Given the description of an element on the screen output the (x, y) to click on. 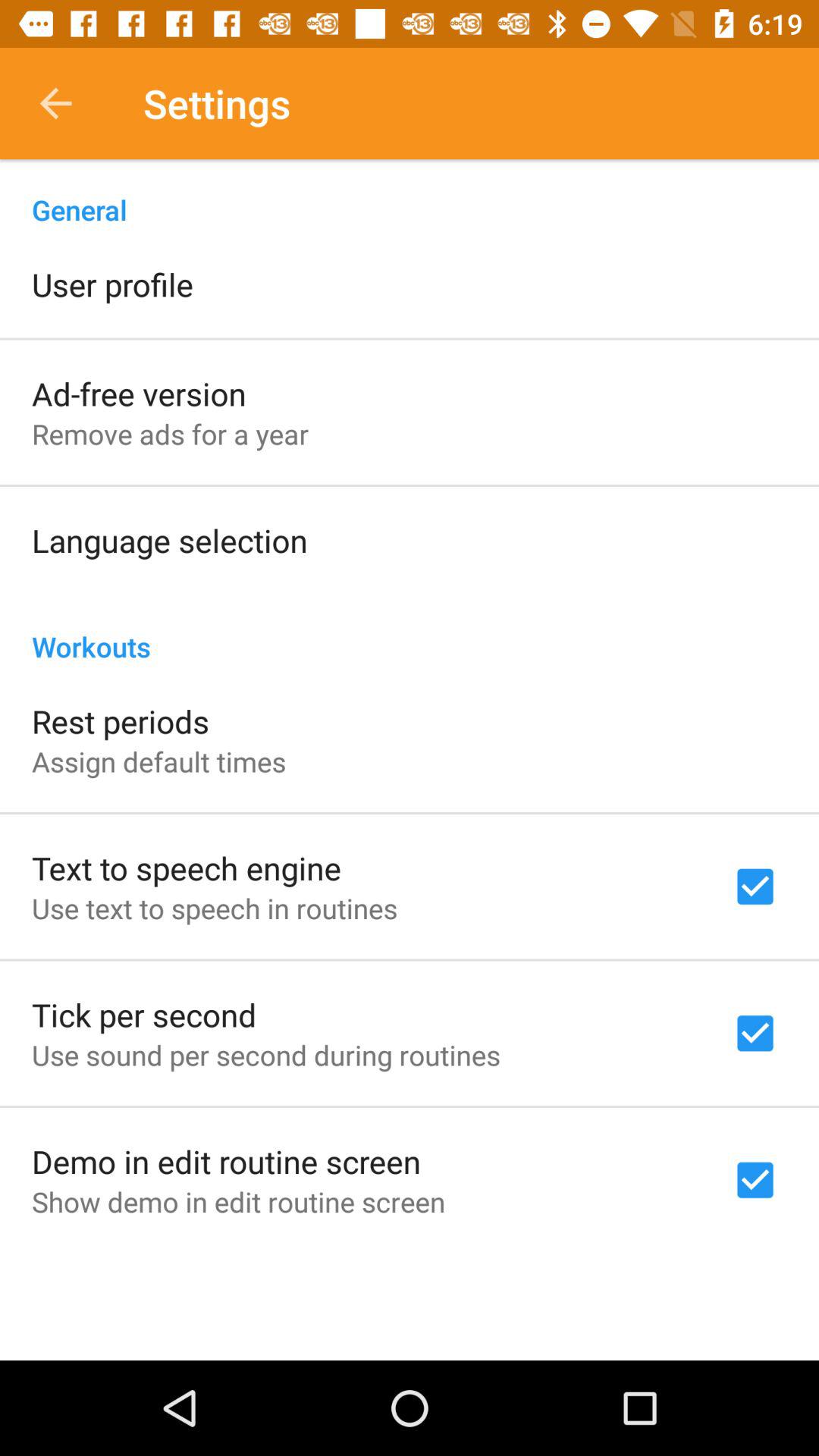
press the item below general icon (112, 283)
